Given the description of an element on the screen output the (x, y) to click on. 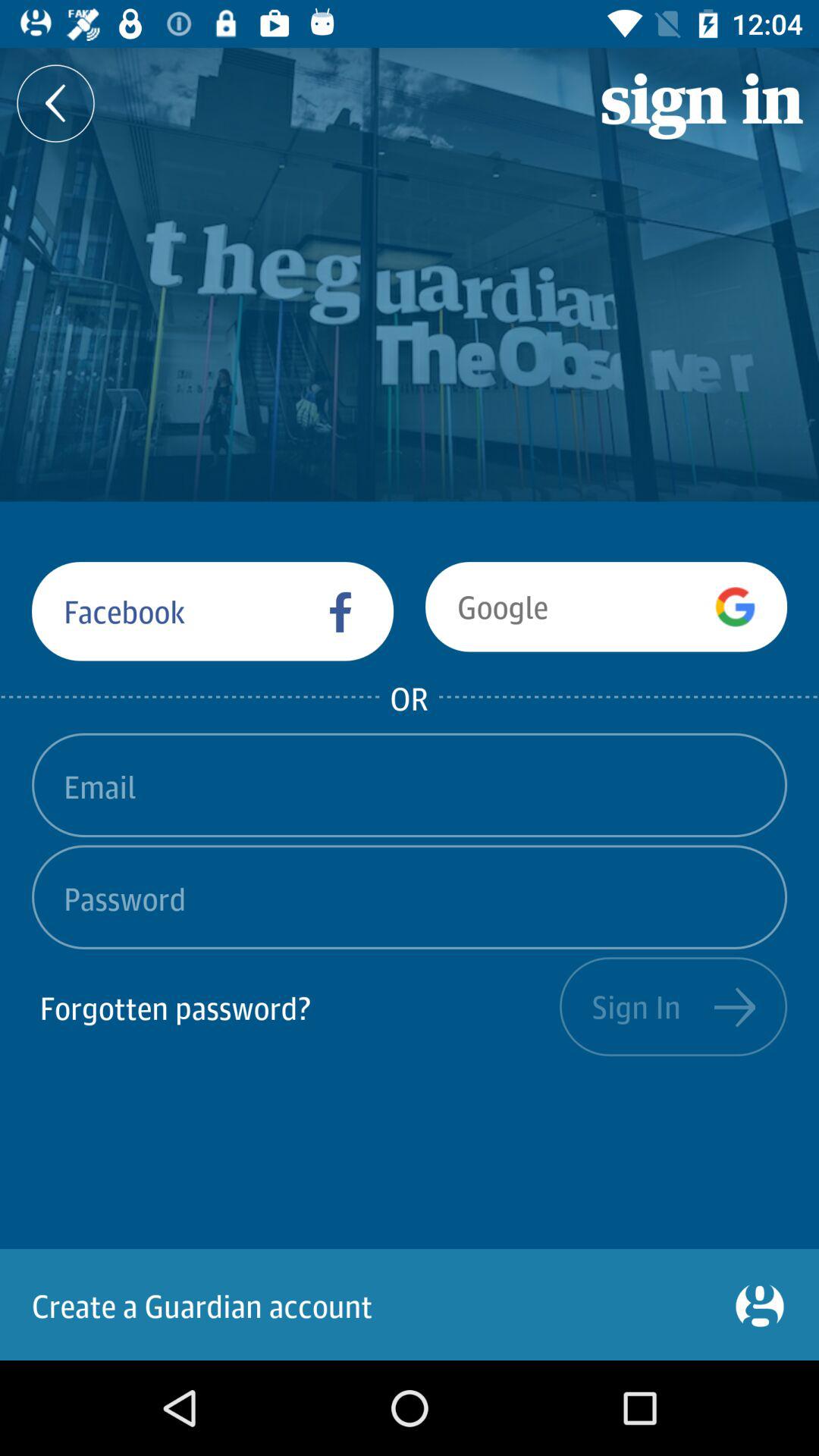
input password (409, 897)
